Given the description of an element on the screen output the (x, y) to click on. 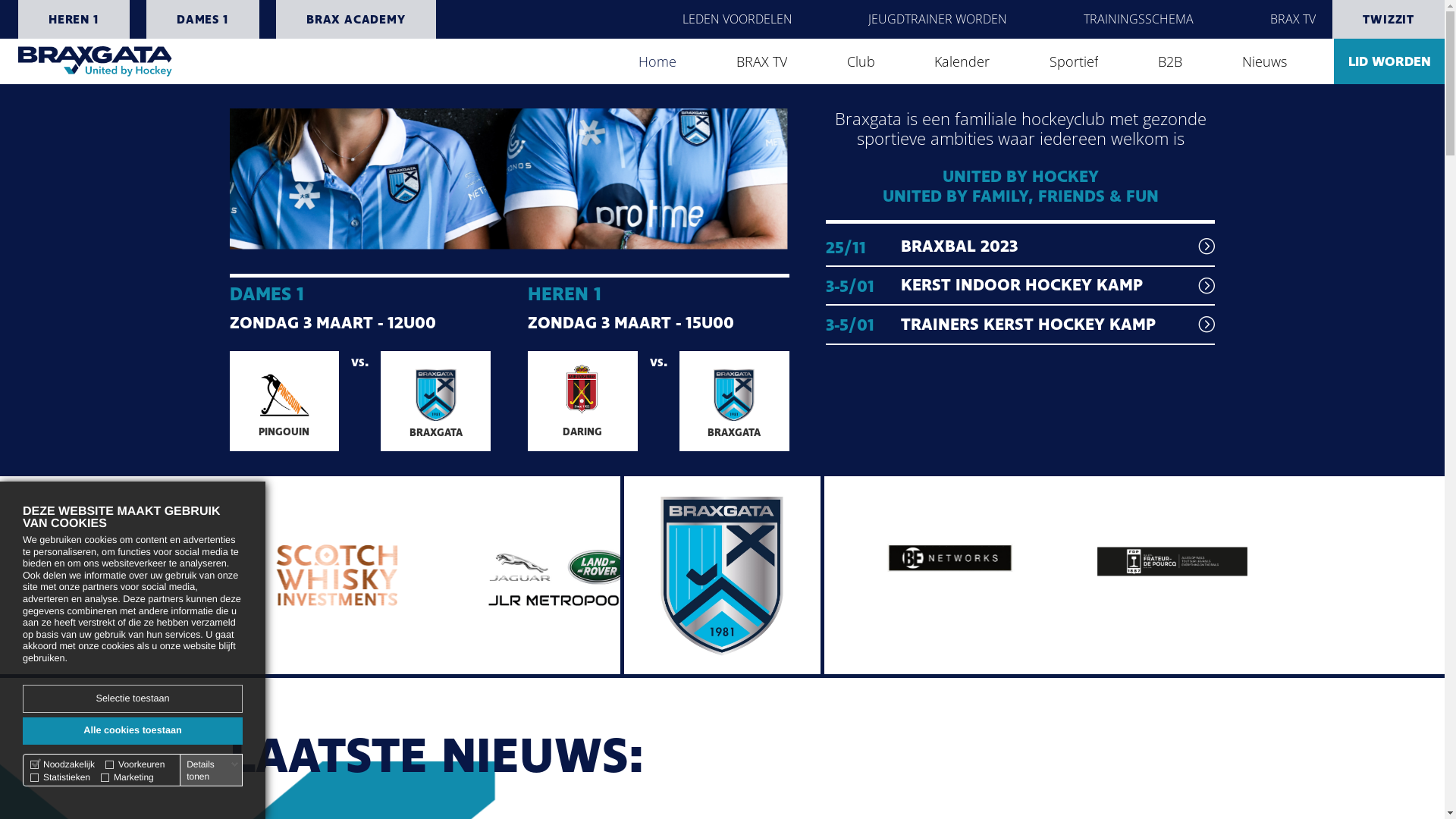
DAMES 1 Element type: text (202, 19)
LEDEN VOORDELEN Element type: text (737, 19)
LID WORDEN Element type: text (1388, 61)
JEUGDTRAINER WORDEN Element type: text (937, 19)
TRAININGSSCHEMA Element type: text (1138, 19)
BRAX TV Element type: text (761, 61)
TWIZZIT Element type: text (1388, 19)
HEREN 1 Element type: text (73, 19)
Home Element type: text (657, 61)
BRAX TV Element type: text (1292, 19)
Alle cookies toestaan Element type: text (132, 730)
Sportief Element type: text (1073, 61)
Selectie toestaan Element type: text (132, 698)
B2B Element type: text (1169, 61)
Club Element type: text (861, 61)
Nieuws Element type: text (1264, 61)
BRAX ACADEMY Element type: text (356, 19)
Kalender Element type: text (961, 61)
Details tonen Element type: text (212, 770)
